Given the description of an element on the screen output the (x, y) to click on. 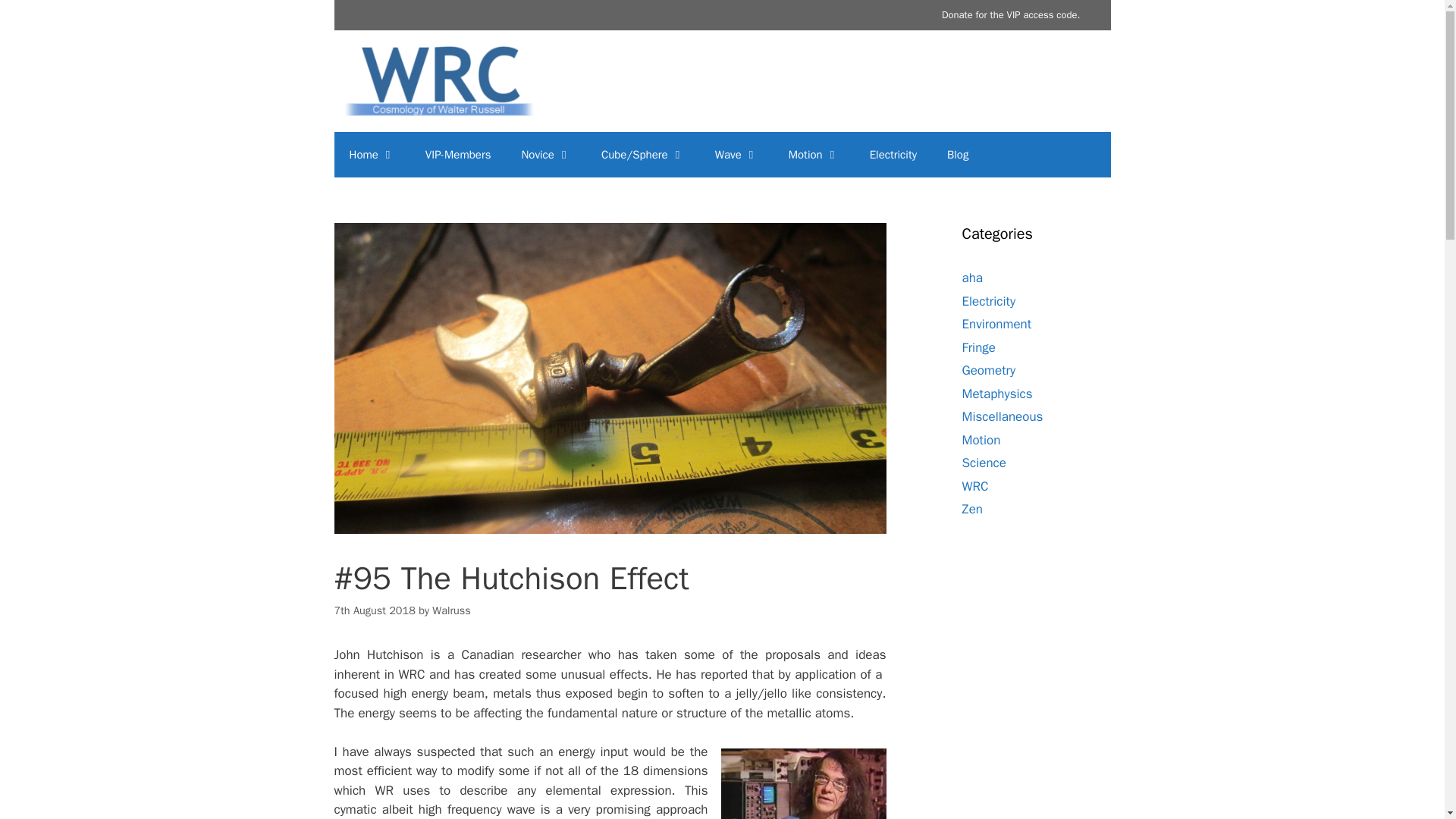
Motion (813, 154)
Wave (736, 154)
View all posts by Walruss (451, 610)
Walruss (451, 610)
Home (371, 154)
Electricity (892, 154)
Novice (545, 154)
VIP-Members (458, 154)
Blog (957, 154)
